Given the description of an element on the screen output the (x, y) to click on. 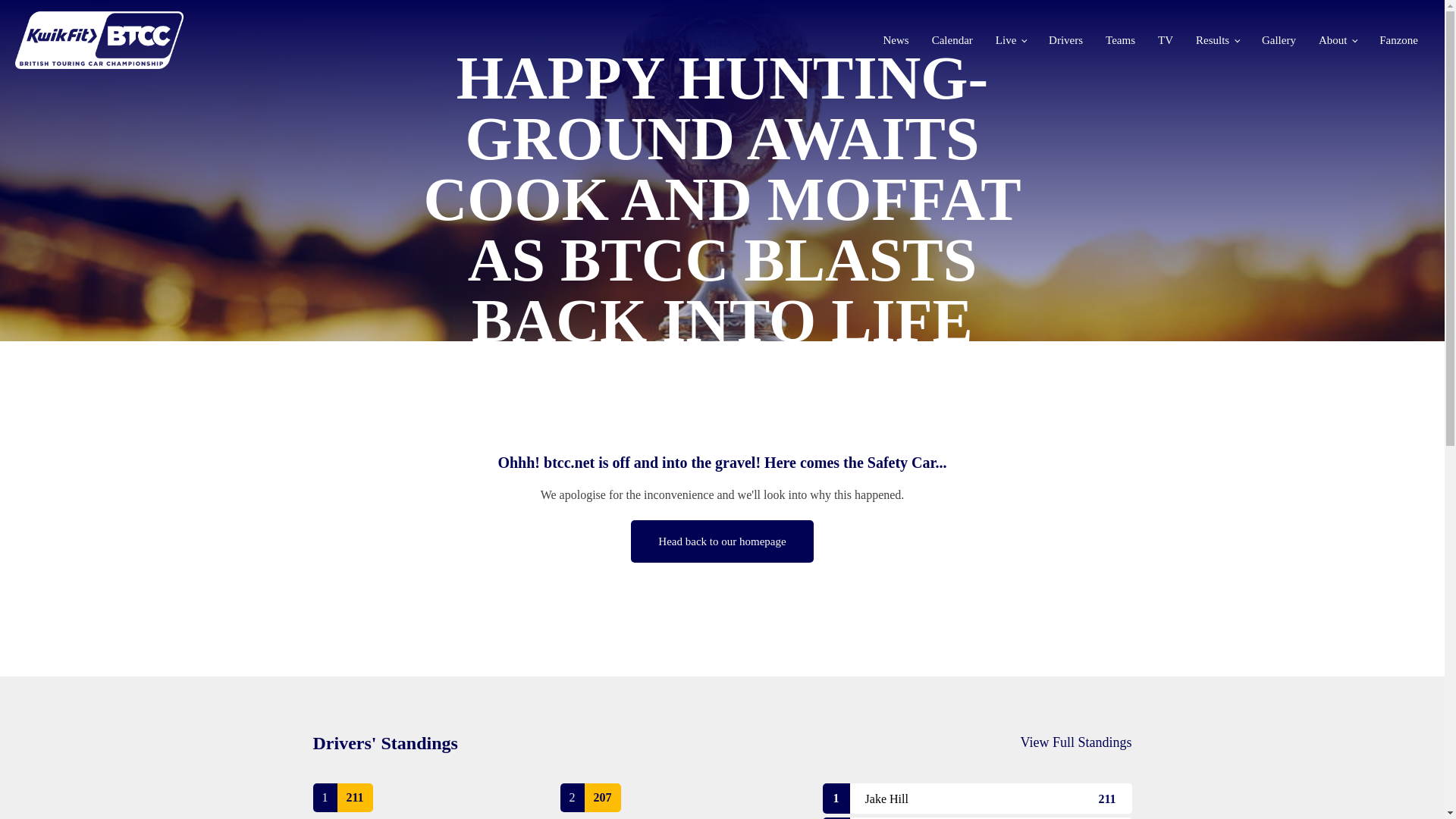
Live (1010, 40)
About (1337, 40)
TV (1165, 40)
Results (1217, 40)
Gallery (1278, 40)
Calendar (951, 40)
News (895, 40)
Fanzone (1398, 40)
Teams (1119, 40)
Drivers (1065, 40)
